Given the description of an element on the screen output the (x, y) to click on. 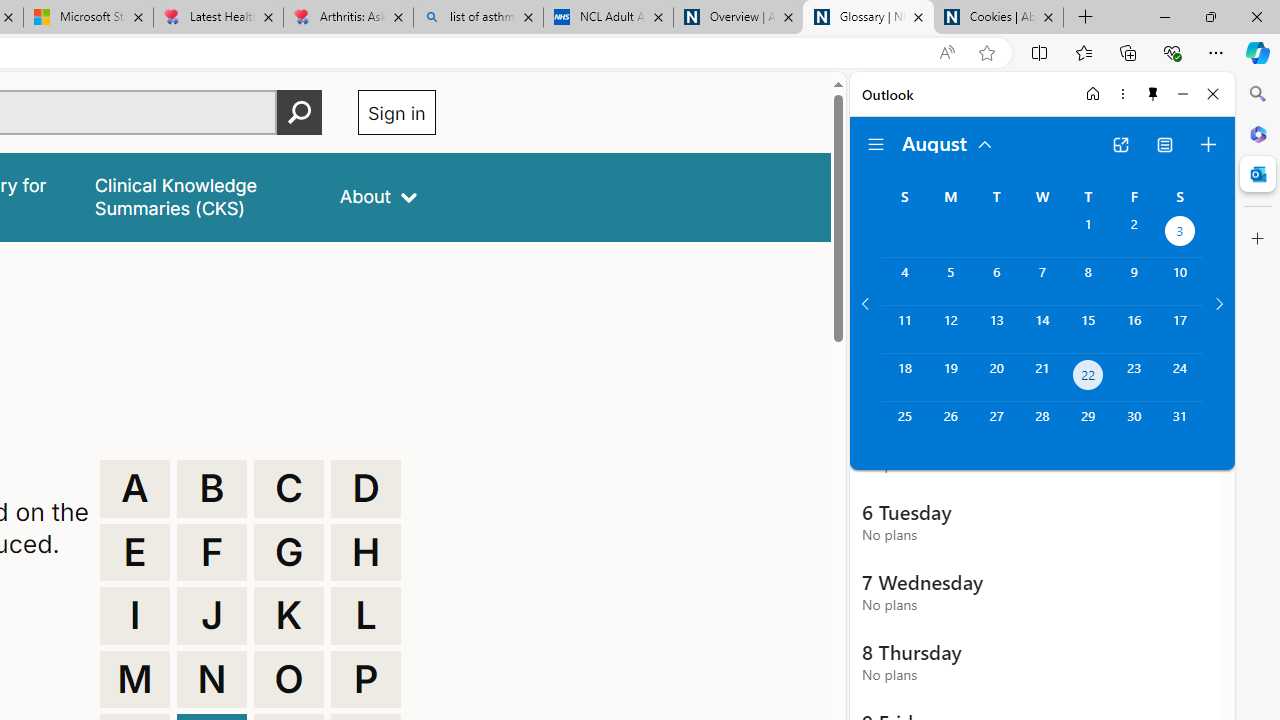
NCL Adult Asthma Inhaler Choice Guideline (608, 17)
Friday, August 23, 2024.  (1134, 377)
Saturday, August 10, 2024.  (1180, 281)
